Given the description of an element on the screen output the (x, y) to click on. 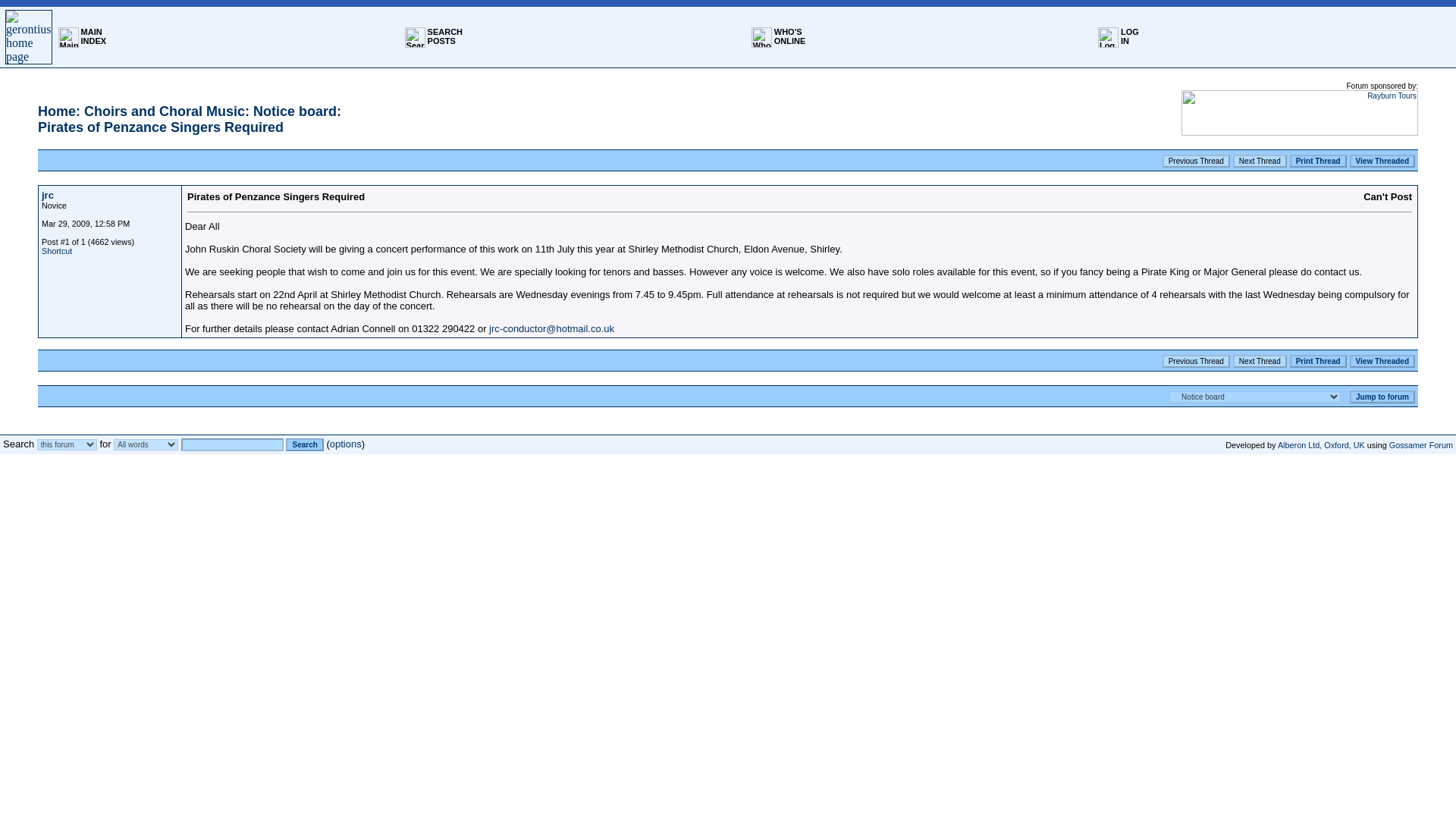
Next Thread (1260, 160)
Next Thread (1260, 360)
Previous Thread (1195, 360)
View Threaded (1382, 360)
options (345, 443)
Previous Thread (1195, 160)
jrc (790, 36)
Gossamer Forum (445, 36)
Print Thread (47, 194)
Next Thread (1421, 443)
Rayburn Tours (1318, 360)
Search (1129, 36)
